Given the description of an element on the screen output the (x, y) to click on. 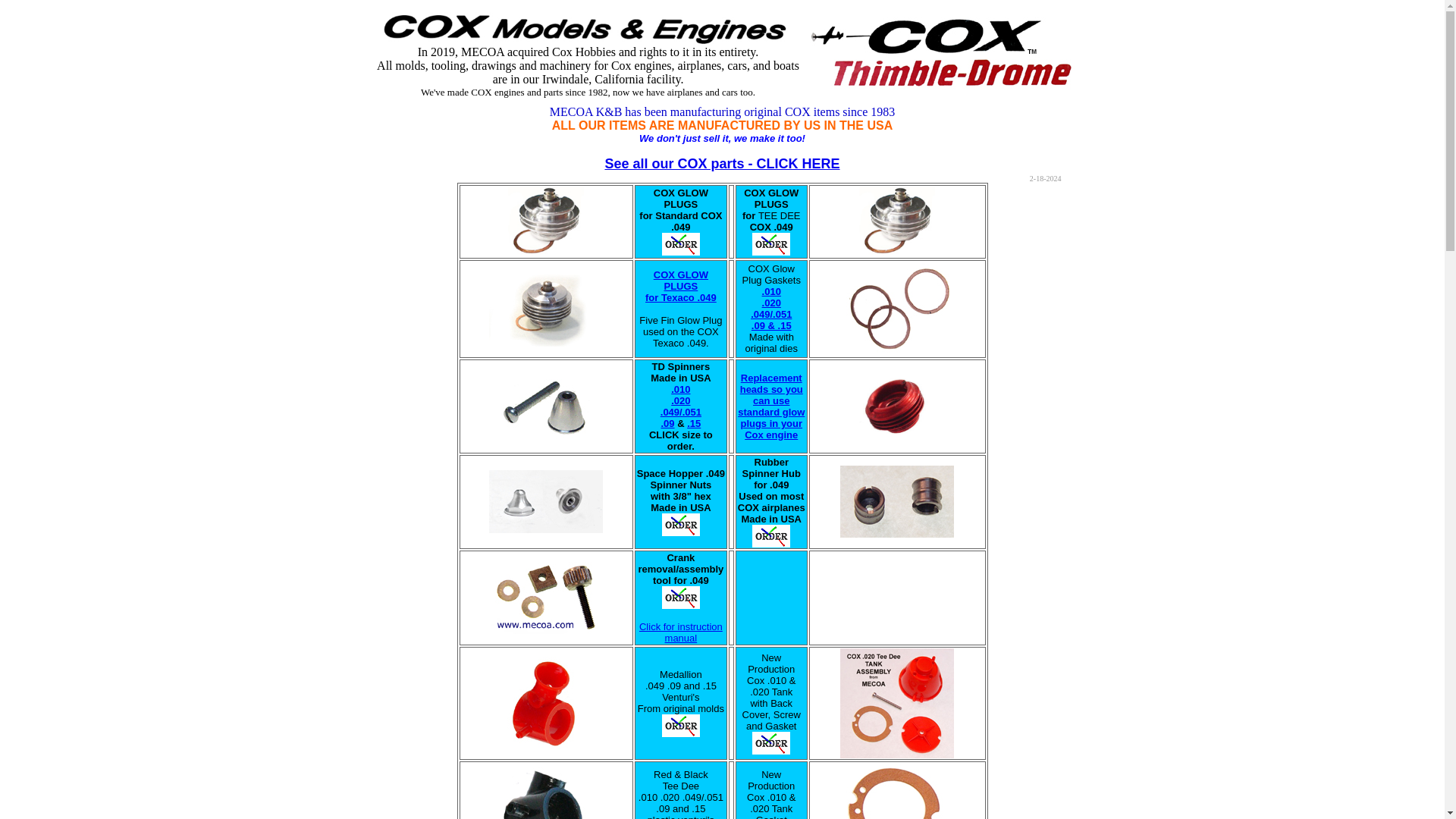
See all our COX parts - CLICK HERE (722, 164)
.15 (693, 423)
.09 (680, 286)
Click for instruction manual (667, 423)
.010 (680, 631)
.020 (680, 389)
